Given the description of an element on the screen output the (x, y) to click on. 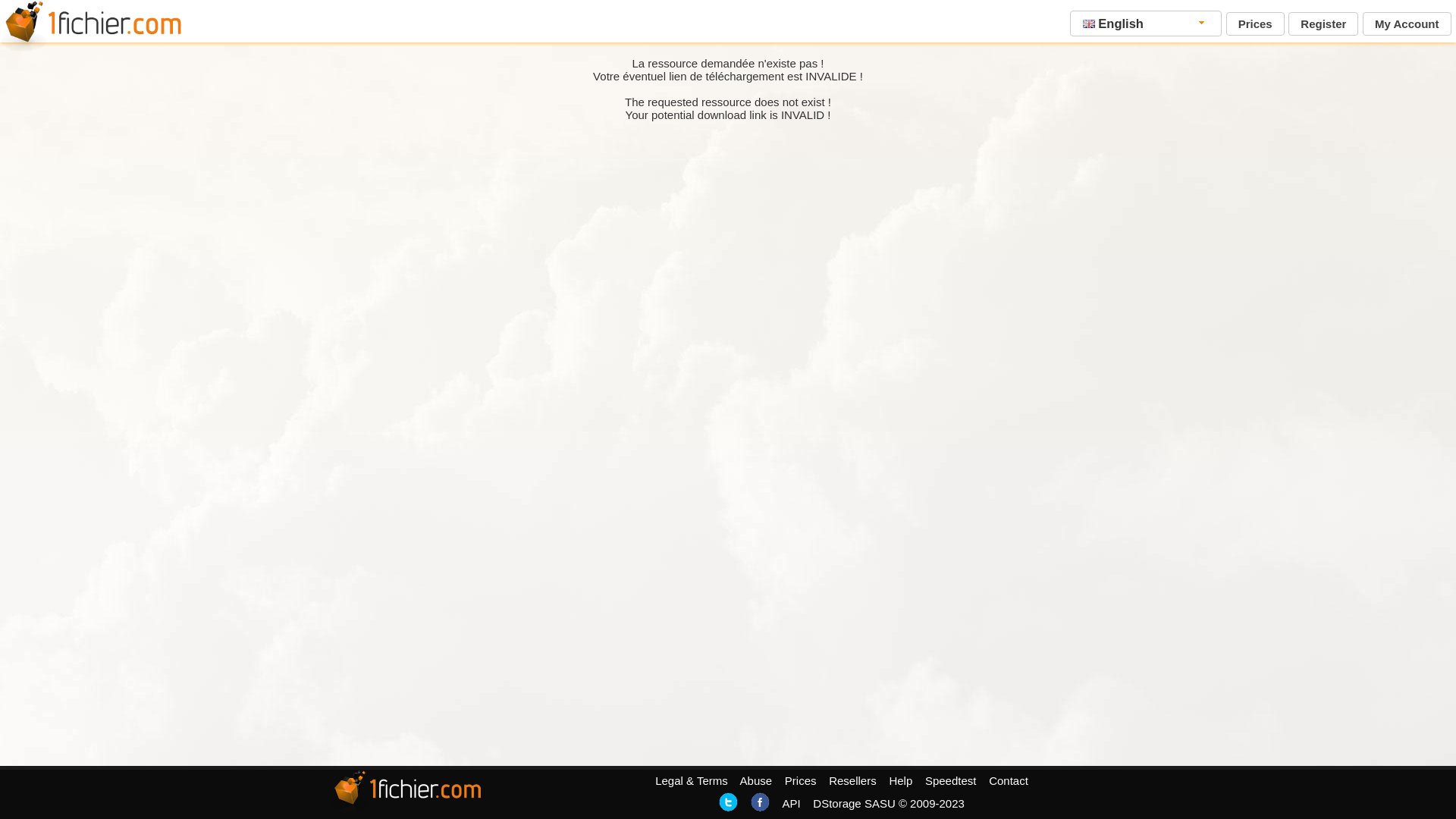
My Account Element type: text (1406, 23)
Abuse Element type: text (756, 780)
Register Element type: text (1323, 23)
Help Element type: text (900, 780)
Legal & Terms Element type: text (691, 780)
API Element type: text (790, 803)
Contact Element type: text (1008, 780)
Prices Element type: text (800, 780)
Speedtest Element type: text (950, 780)
Resellers Element type: text (852, 780)
Prices Element type: text (1255, 23)
